Given the description of an element on the screen output the (x, y) to click on. 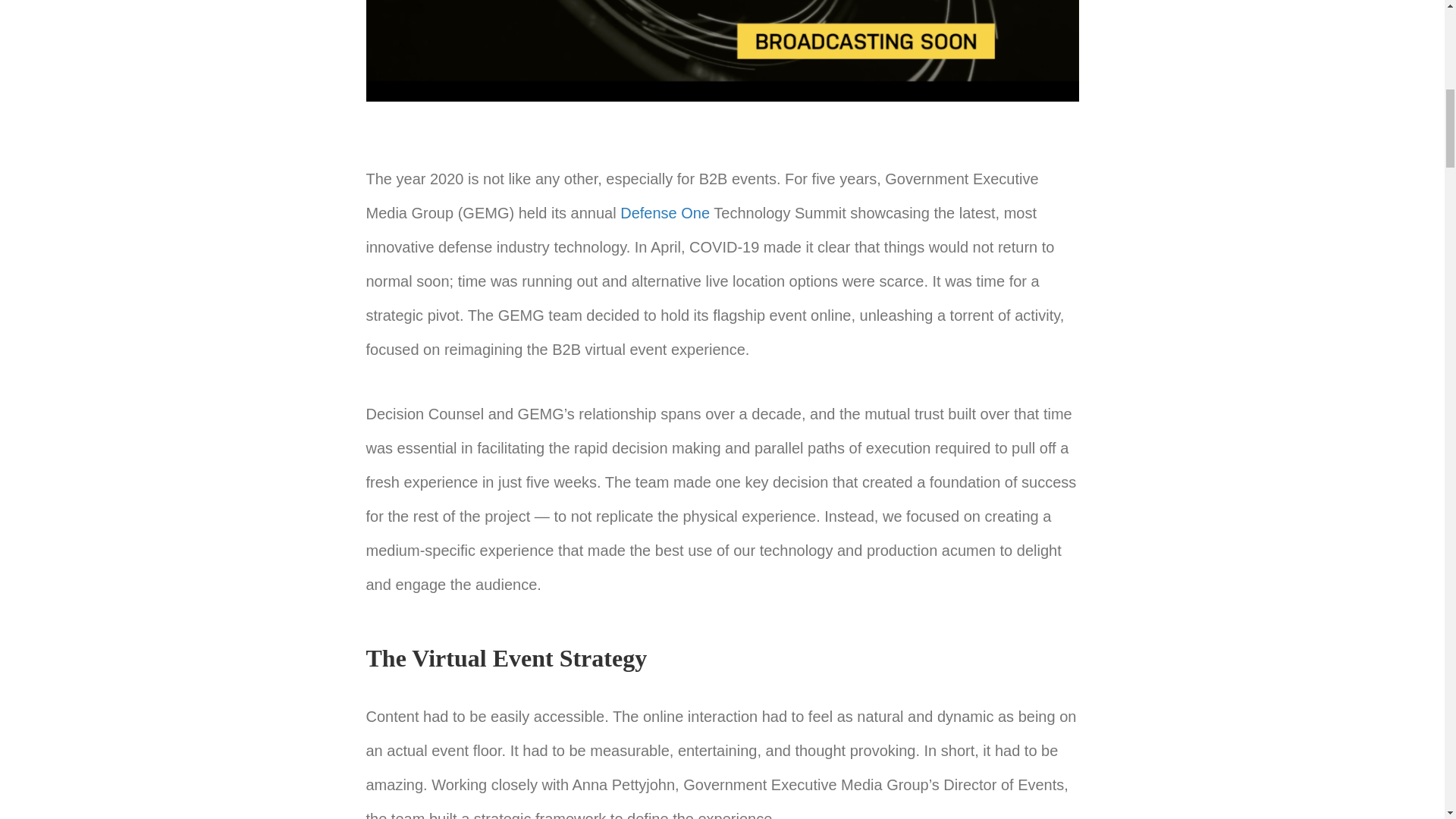
Defense One (665, 212)
Defense One Tech Summit (721, 50)
